Given the description of an element on the screen output the (x, y) to click on. 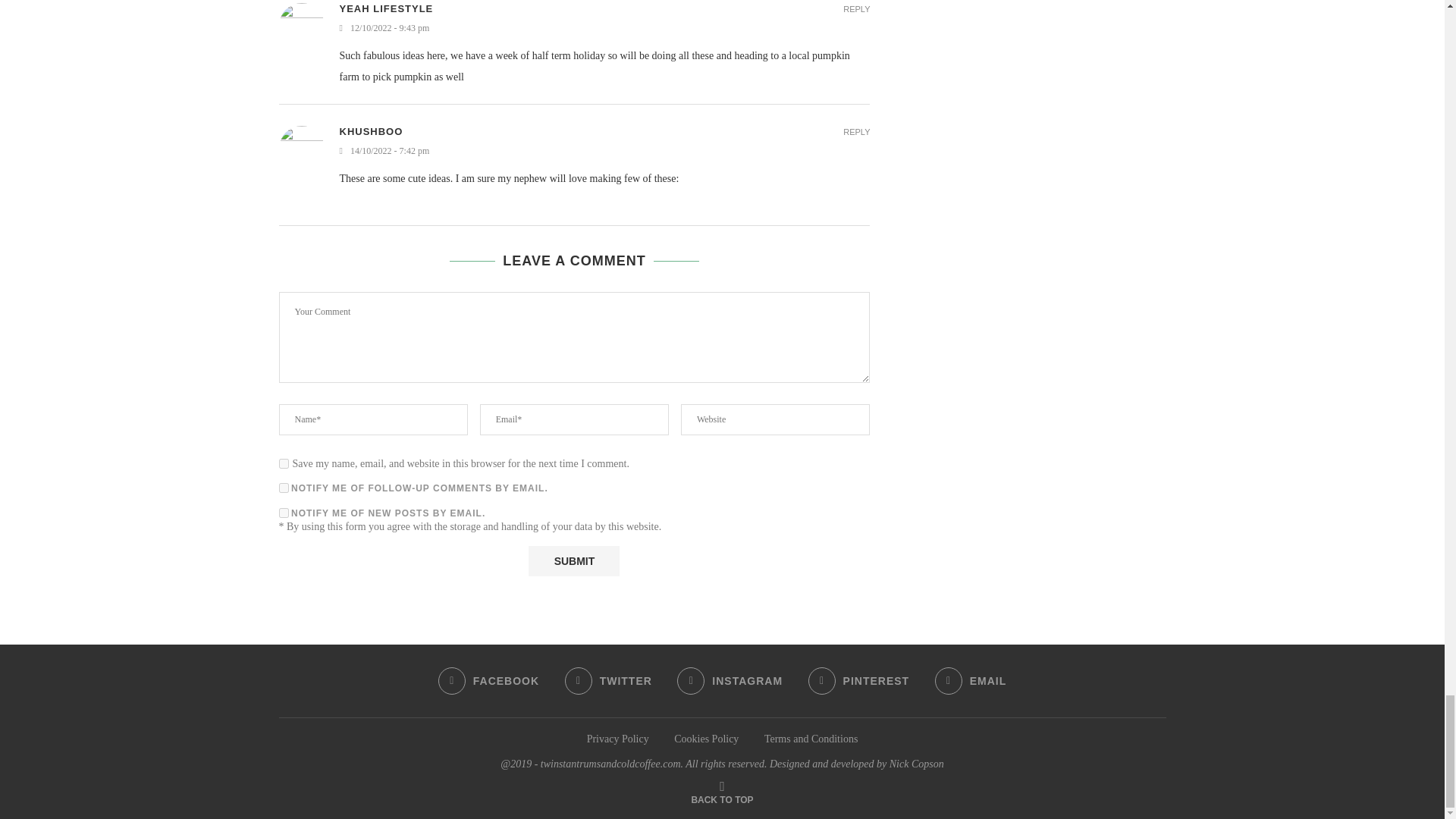
subscribe (283, 512)
yes (283, 463)
Submit (574, 561)
subscribe (283, 488)
